Given the description of an element on the screen output the (x, y) to click on. 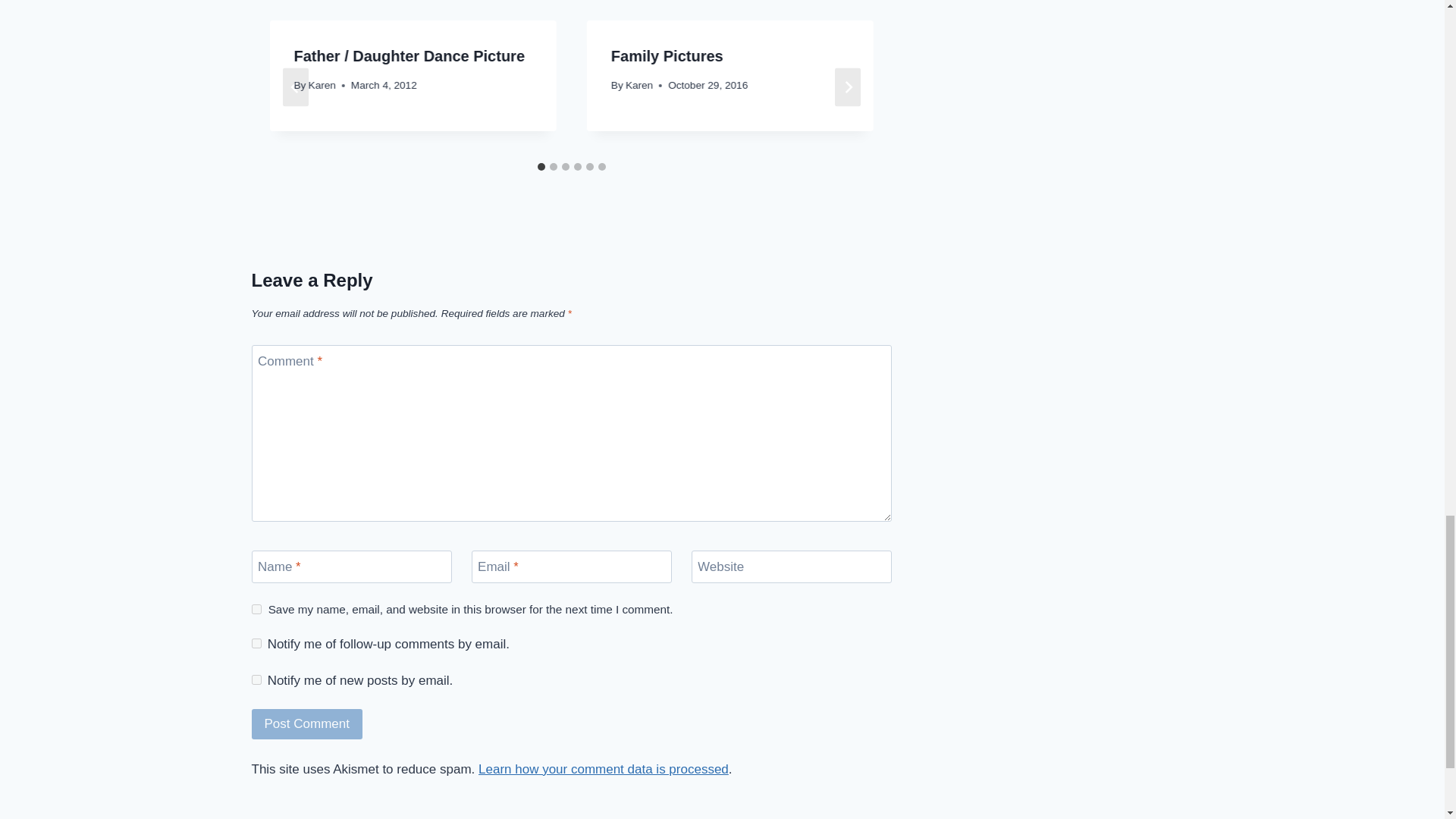
subscribe (256, 643)
yes (256, 609)
subscribe (256, 679)
Post Comment (306, 724)
